Given the description of an element on the screen output the (x, y) to click on. 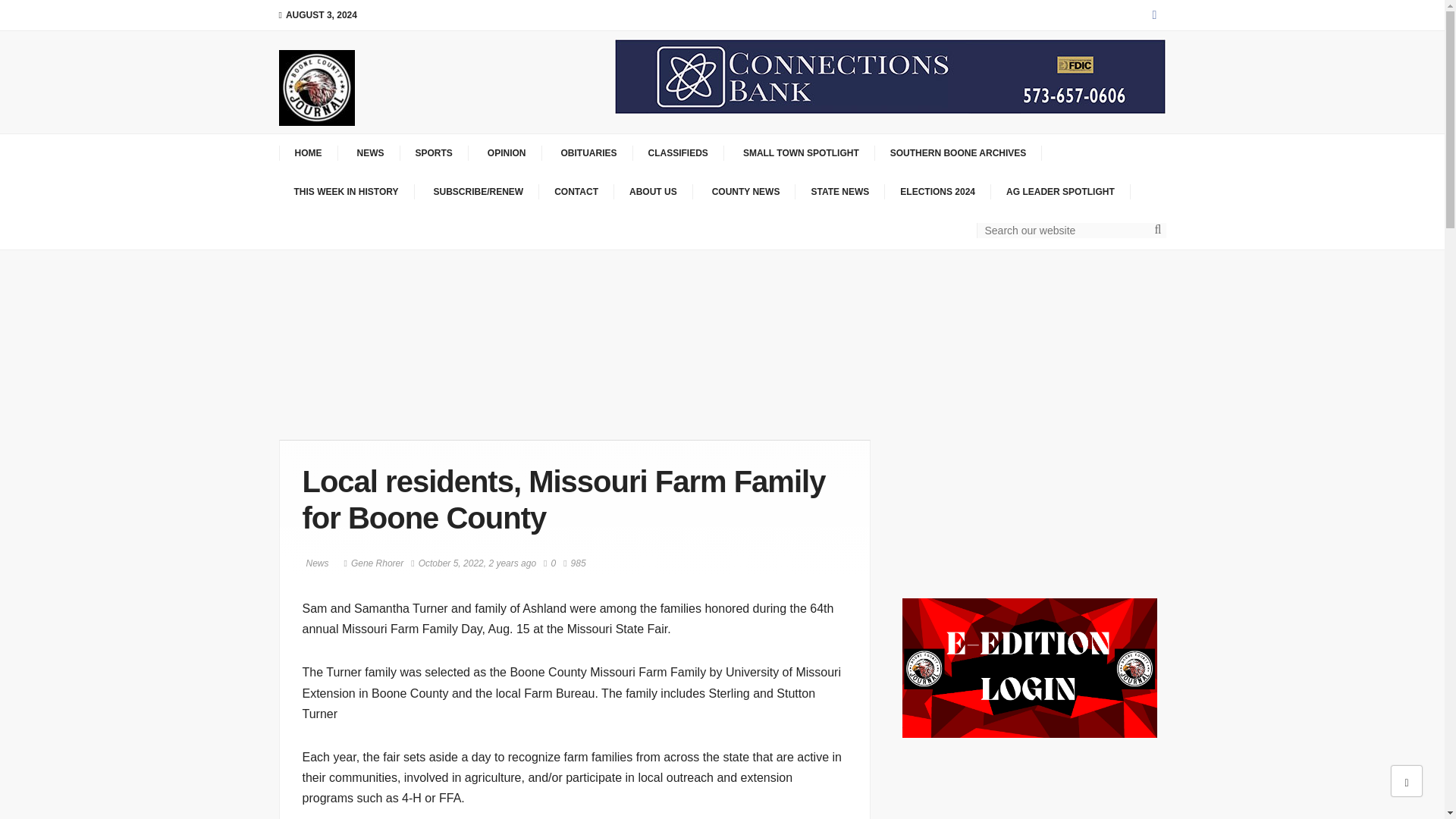
HOME (308, 152)
ABOUT US (653, 191)
STATE NEWS (839, 191)
ELECTIONS 2024 (938, 191)
CLASSIFIEDS (678, 152)
like (549, 562)
COUNTY NEWS (744, 191)
AG LEADER SPOTLIGHT (1061, 191)
THIS WEEK IN HISTORY (346, 191)
OBITUARIES (587, 152)
